Given the description of an element on the screen output the (x, y) to click on. 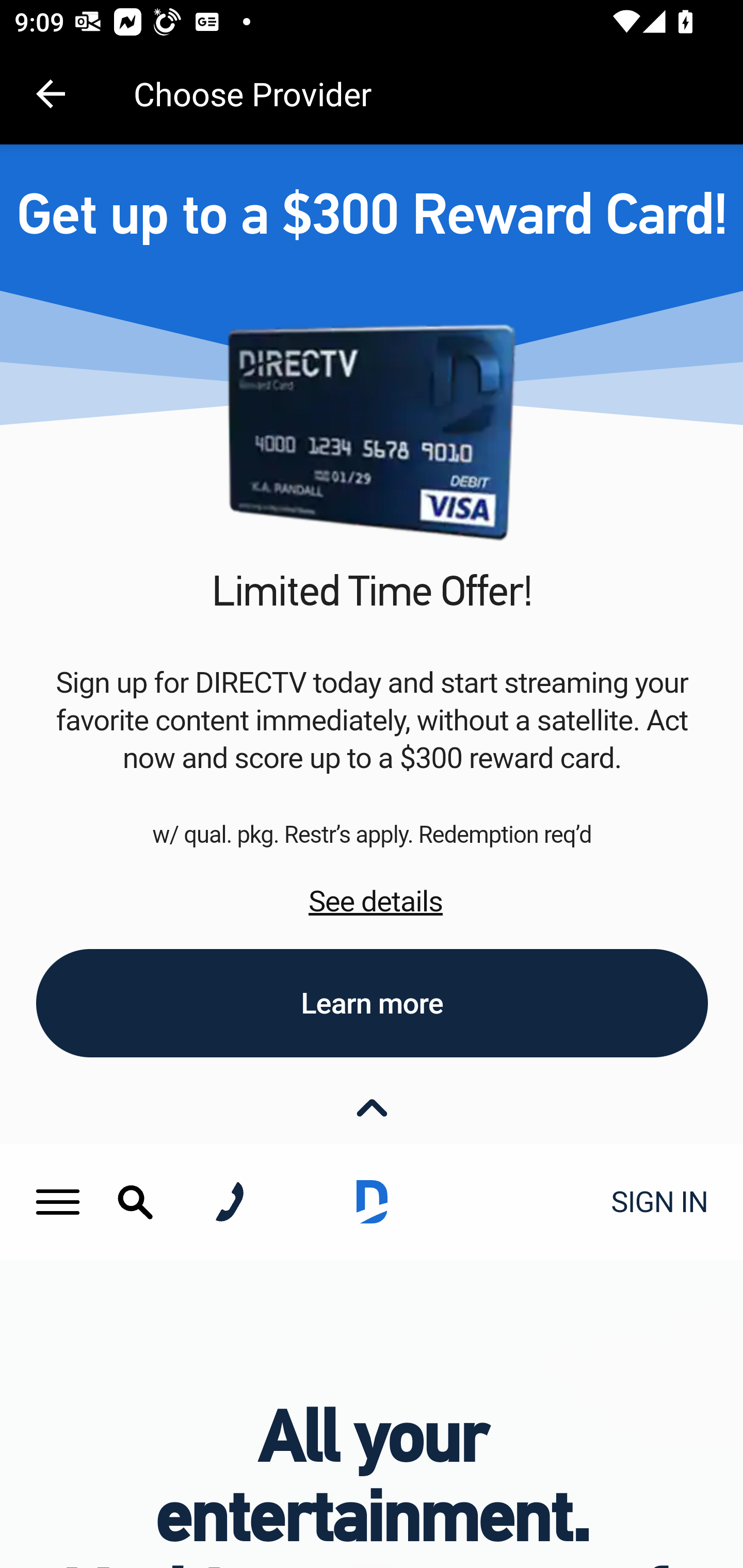
Navigate up (50, 93)
See details (375, 901)
Learn more (372, 1003)
Close (372, 1107)
SIGN IN (653, 1202)
Search directv.com (135, 1200)
Open Menu icon (58, 1201)
Call Us (228, 1201)
DirecTV Home (371, 1201)
